Given the description of an element on the screen output the (x, y) to click on. 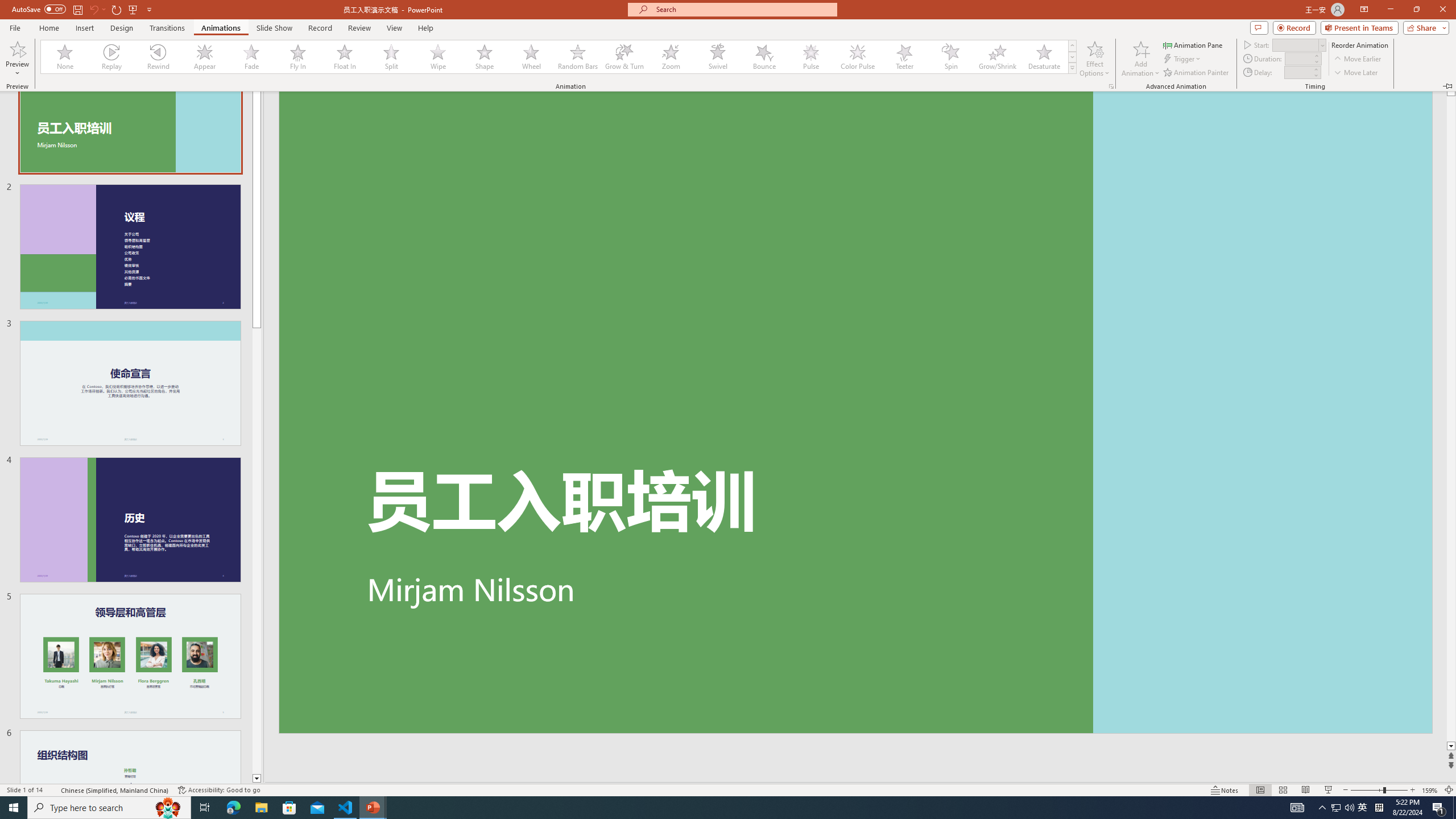
Spell Check  (52, 790)
Zoom 159% (1430, 790)
PowerPoint - 2 running windows (373, 807)
